Given the description of an element on the screen output the (x, y) to click on. 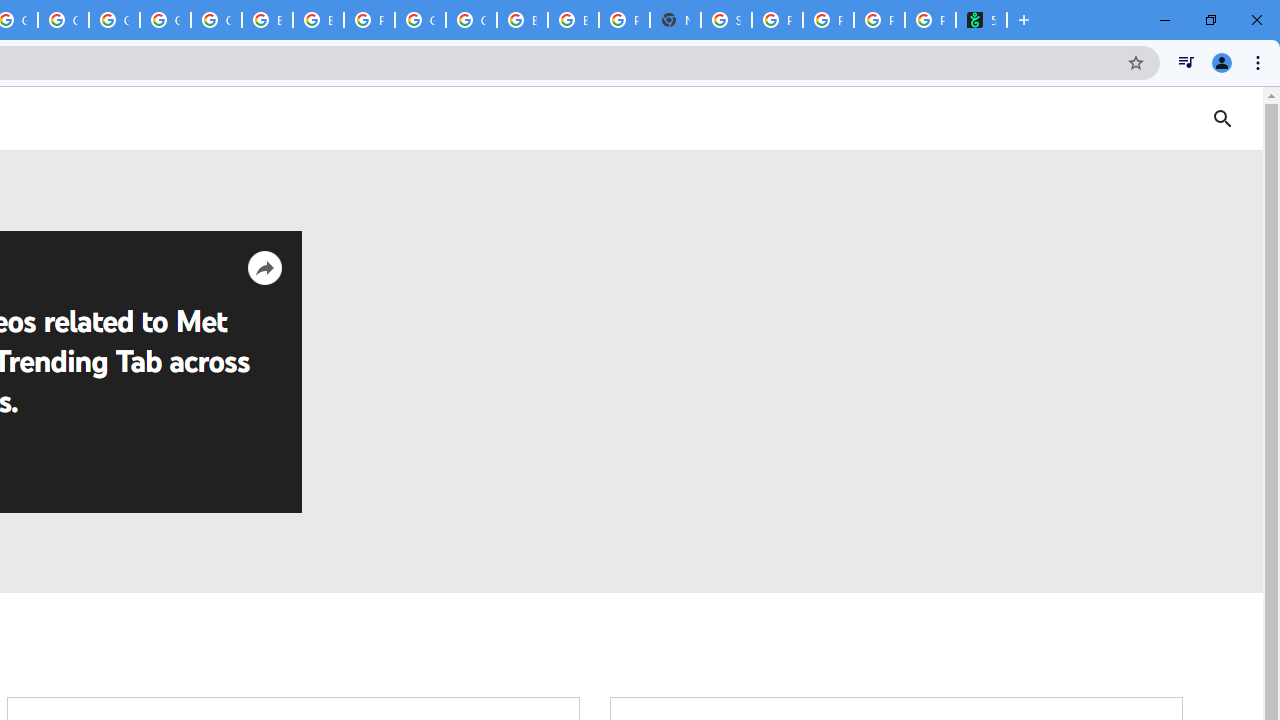
Privacy Checkup (827, 20)
Browse Chrome as a guest - Computer - Google Chrome Help (267, 20)
Sign in - Google Accounts (726, 20)
Privacy Checkup (878, 20)
Google Cloud Platform (420, 20)
New Tab (675, 20)
